Given the description of an element on the screen output the (x, y) to click on. 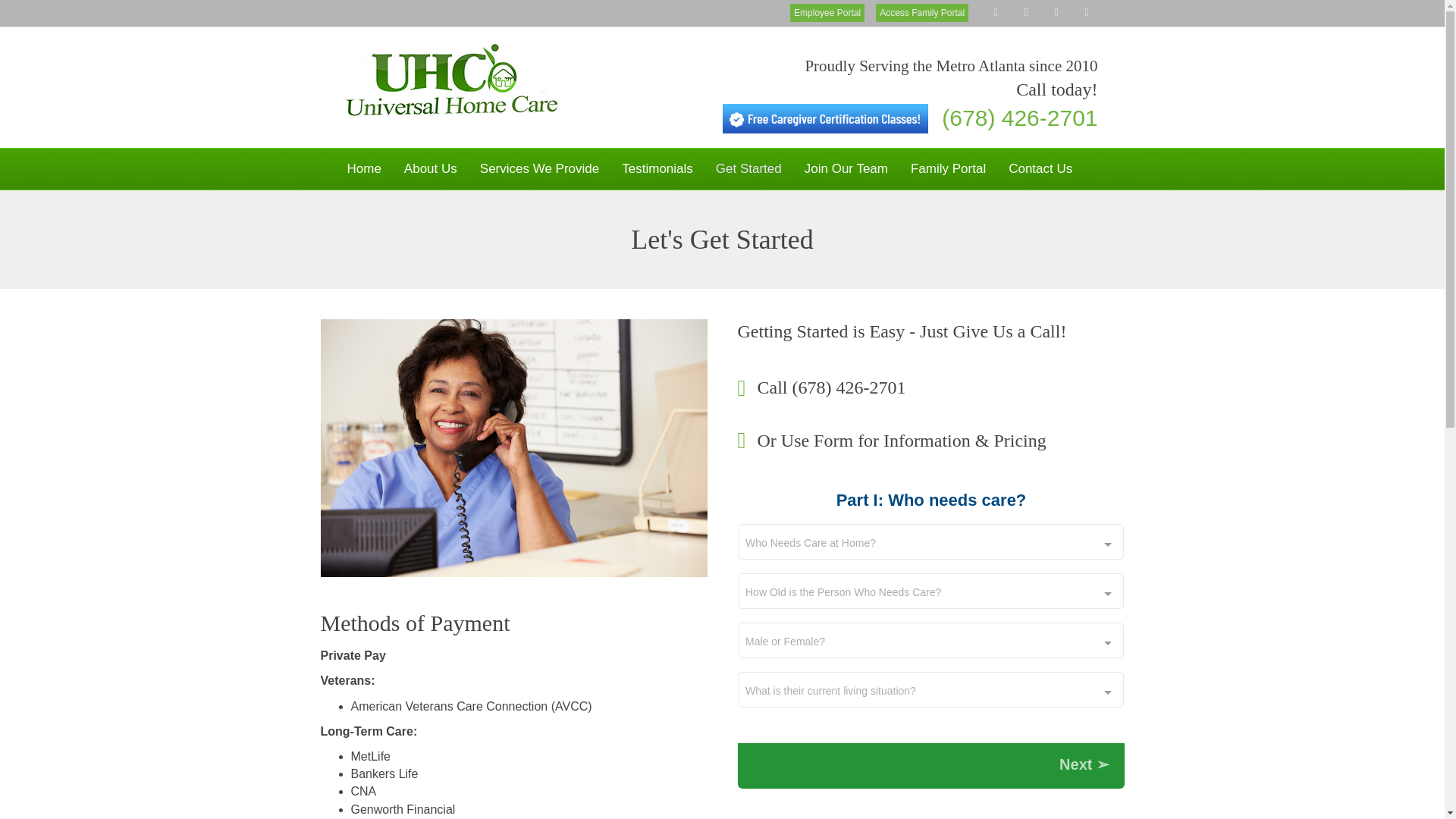
Pinterest (1061, 11)
Home (362, 168)
About Us (430, 168)
Facebook (1000, 11)
Employee Portal (827, 13)
Instagram (1091, 11)
Access Family Portal (922, 13)
Services We Provide (539, 168)
Twitter (1031, 11)
